Given the description of an element on the screen output the (x, y) to click on. 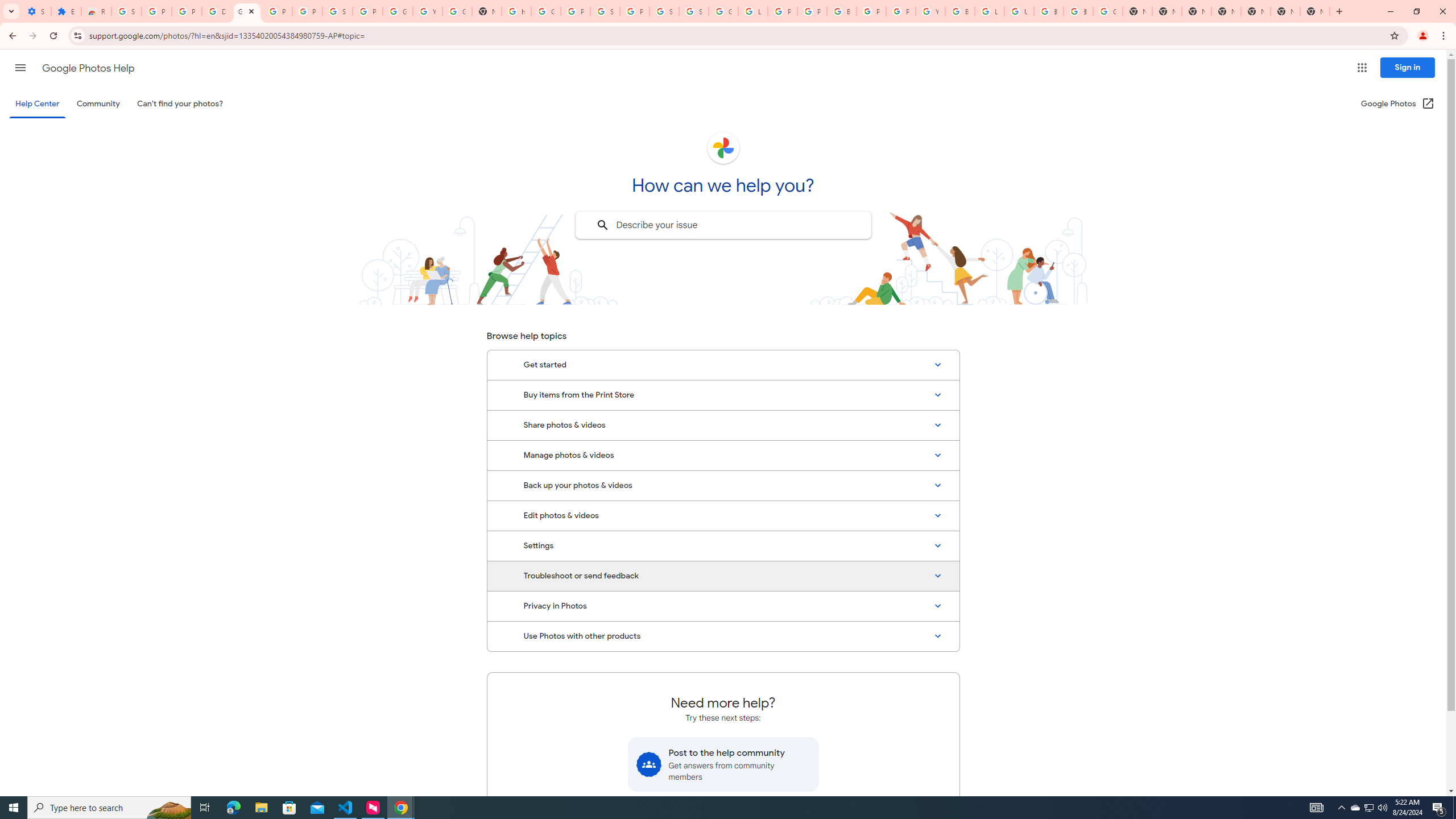
Sign in - Google Accounts (664, 11)
YouTube (930, 11)
Extensions (65, 11)
Sign in - Google Accounts (604, 11)
Sign in - Google Accounts (337, 11)
Describe your issue to find information that might help you. (722, 225)
Google Photos (Open in a new window) (1397, 103)
